Given the description of an element on the screen output the (x, y) to click on. 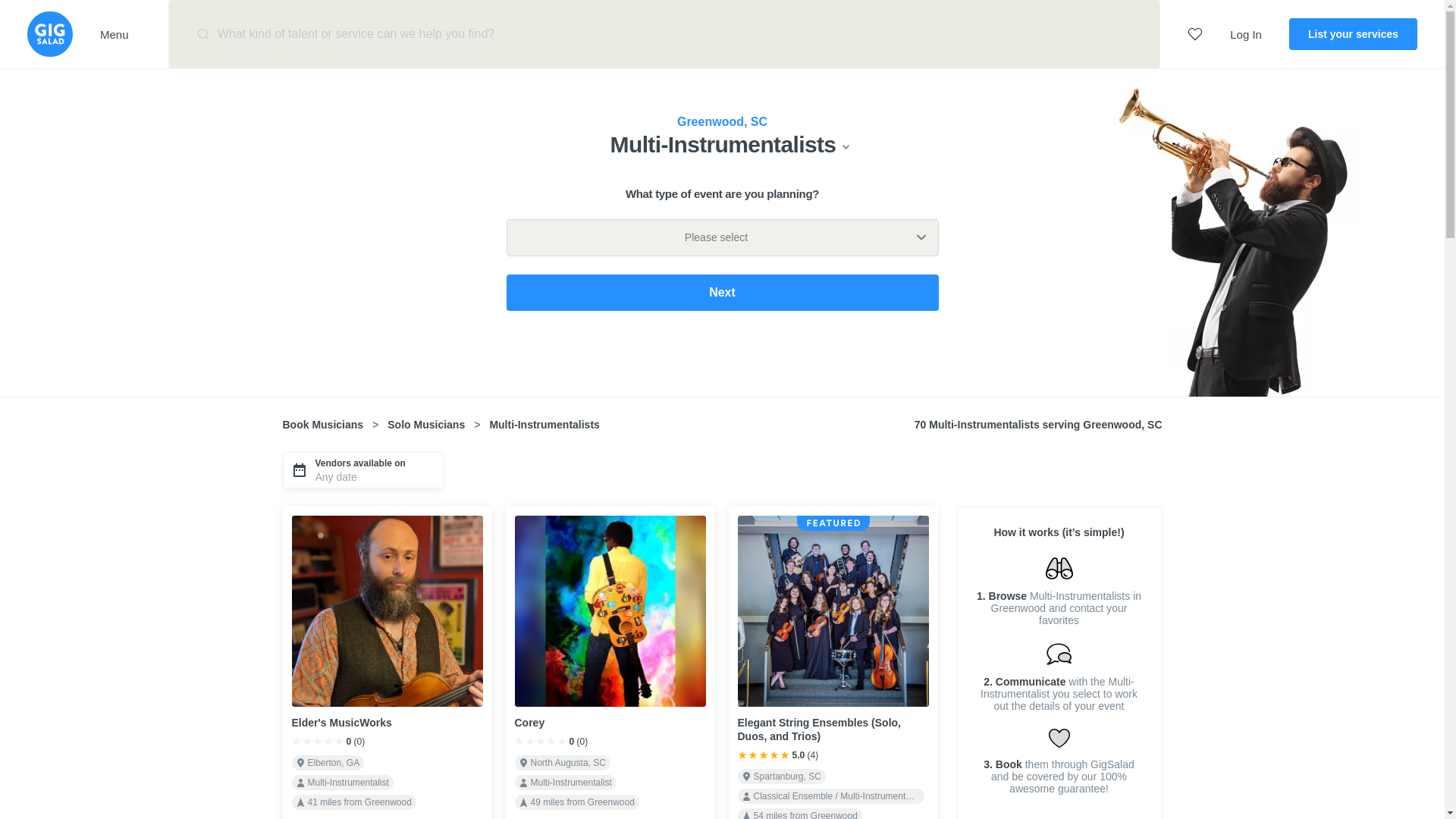
Follow on Facebook (1116, 654)
Multi-Instrumentalists (730, 144)
Next (722, 292)
Solo Musicians (425, 424)
Greenwood, SC (722, 121)
Elder's MusicWorks (341, 722)
Multi-Instrumentalists (543, 424)
Book Musicians (322, 424)
Menu (120, 33)
Follow on Instagram (1148, 654)
Log In (1246, 33)
List your services (1352, 33)
